Given the description of an element on the screen output the (x, y) to click on. 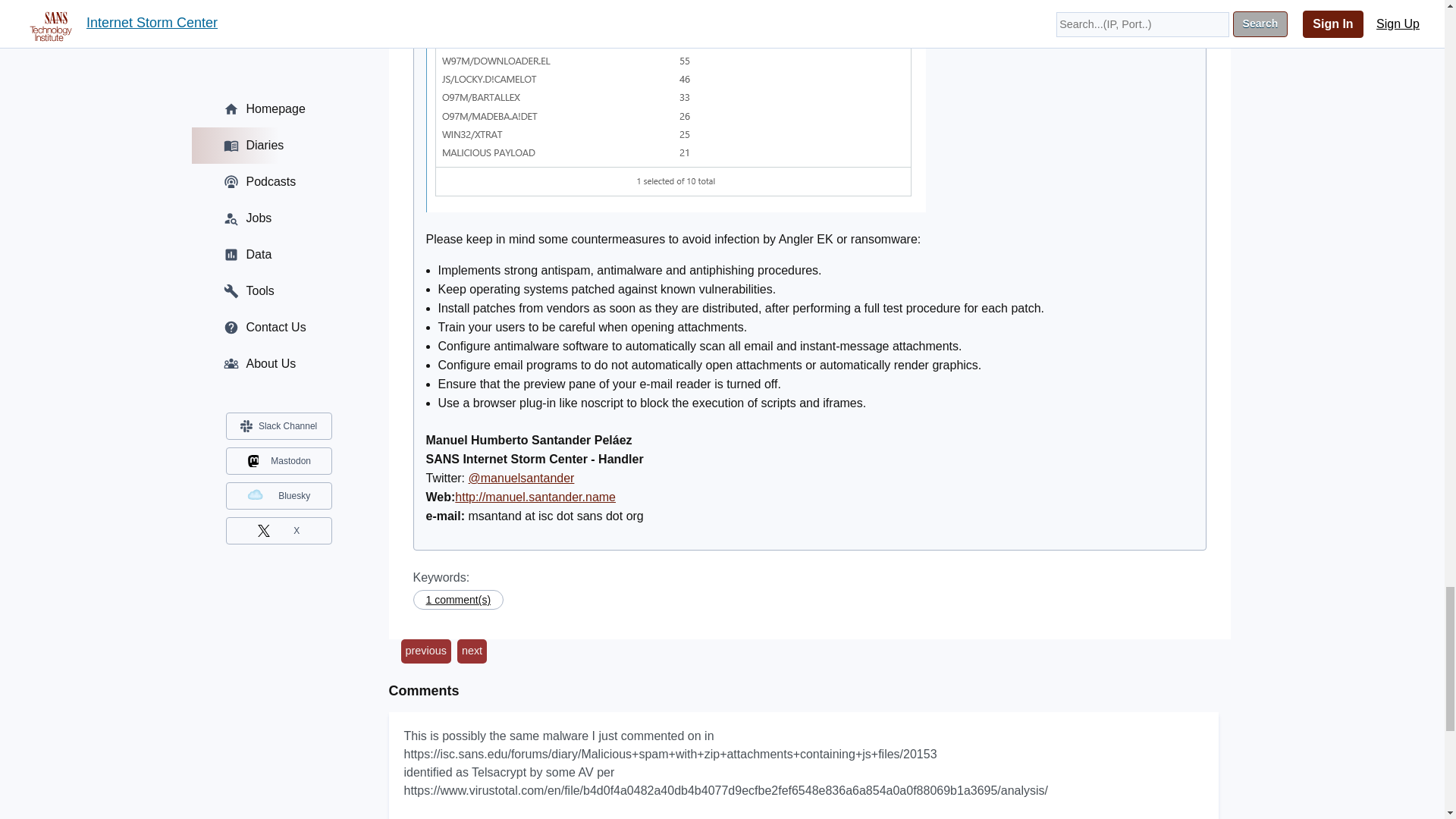
next (471, 651)
previous (424, 651)
